Given the description of an element on the screen output the (x, y) to click on. 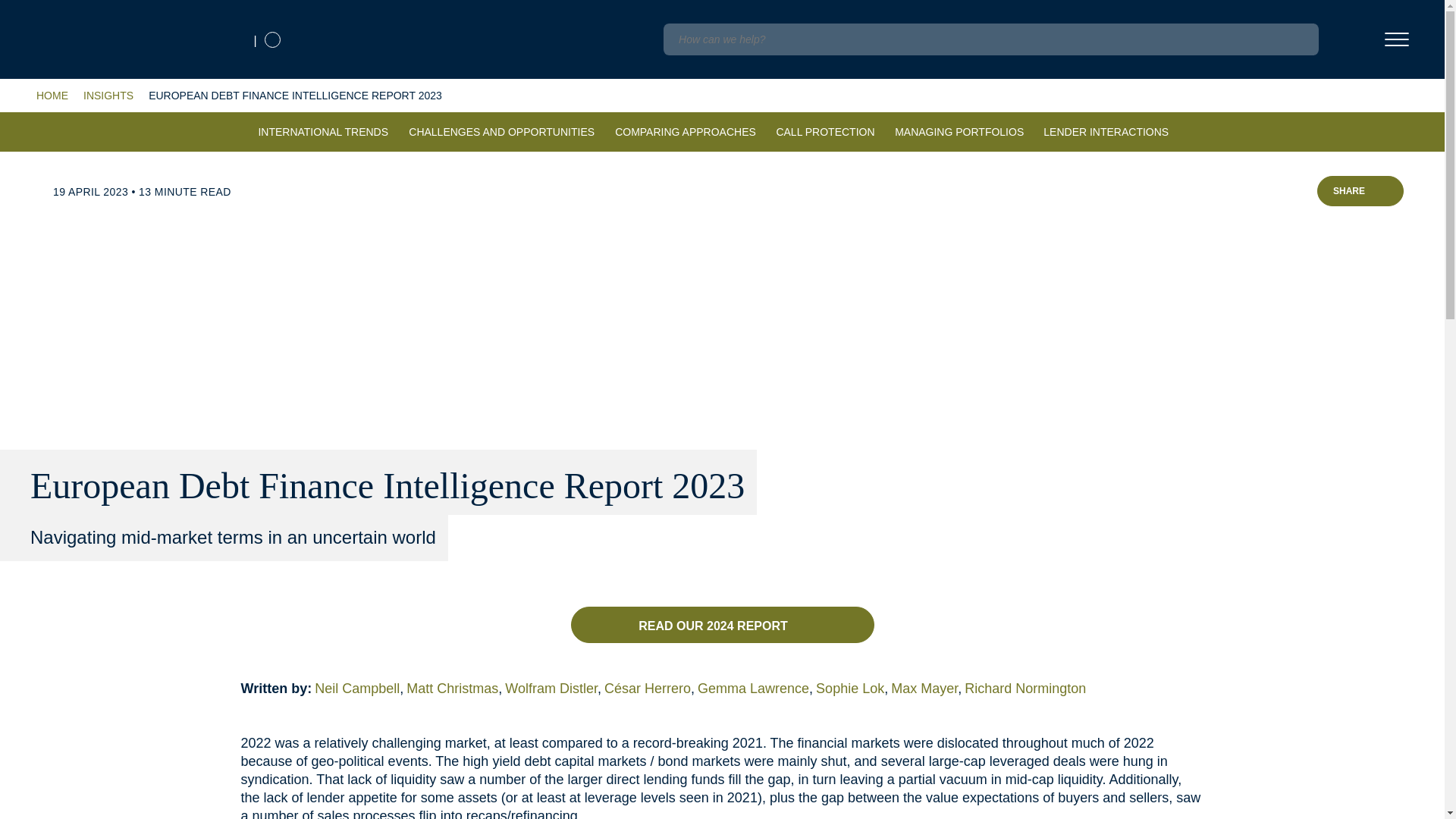
MANAGING PORTFOLIOS (959, 126)
LENDER INTERACTIONS (1106, 126)
HOME (52, 95)
CHALLENGES AND OPPORTUNITIES (501, 126)
Insert a query. Press enter to send (990, 39)
READ OUR 2024 REPORT (721, 624)
INSIGHTS (107, 95)
Neil Campbell (360, 688)
Matt Christmas (455, 688)
Wolfram Distler (554, 688)
